Given the description of an element on the screen output the (x, y) to click on. 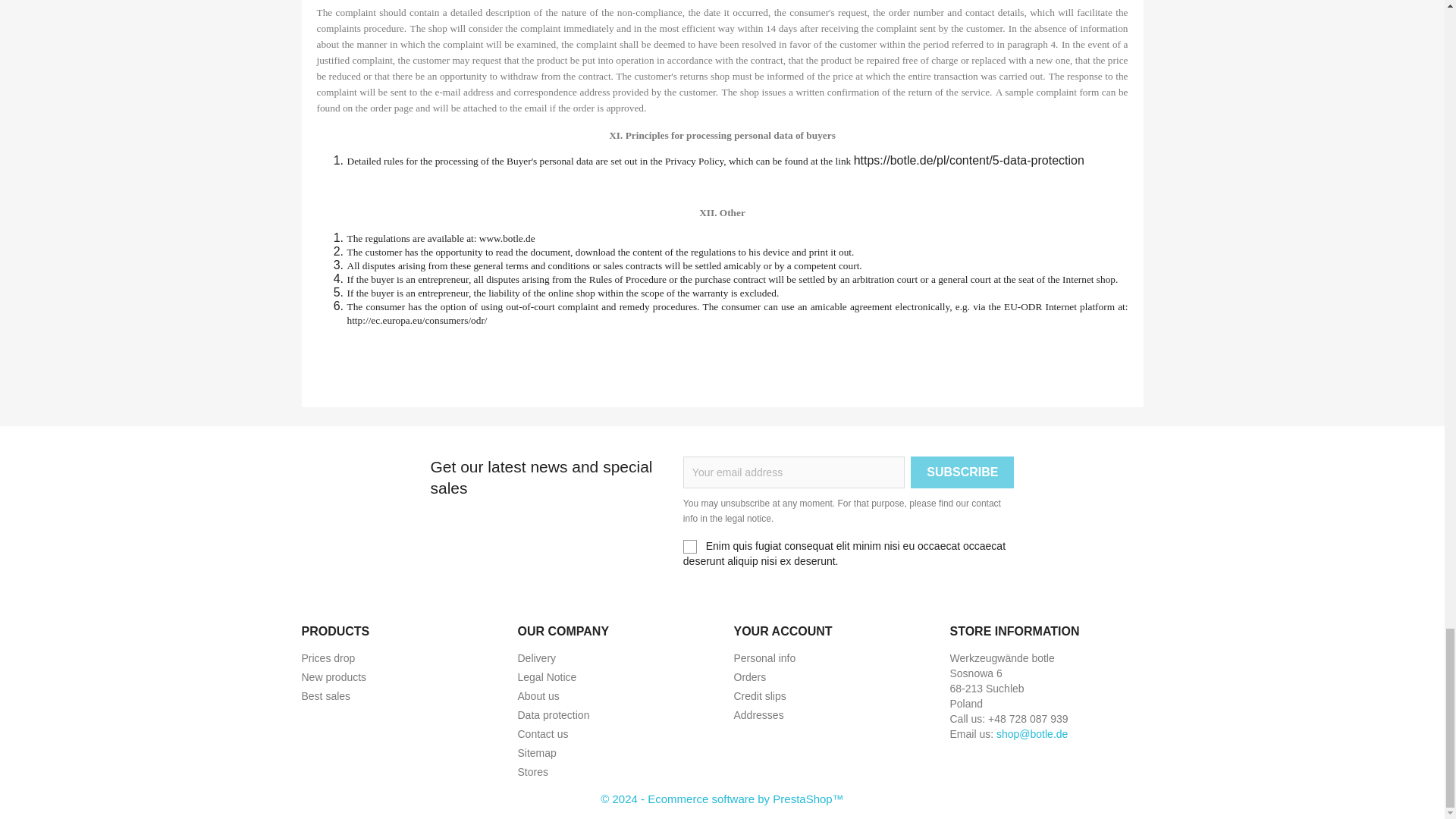
About us (537, 695)
Subscribe (962, 472)
Lost ? Find what your are looking for (536, 752)
Credit slips (759, 695)
Subscribe (962, 472)
Legal notice (546, 676)
Legal Notice (546, 676)
Personal info (764, 657)
Our special products (328, 657)
Sitemap (536, 752)
YOUR ACCOUNT (782, 631)
Best sales (325, 695)
Use our form to contact us (541, 734)
Stores (531, 771)
Addresses (758, 715)
